Given the description of an element on the screen output the (x, y) to click on. 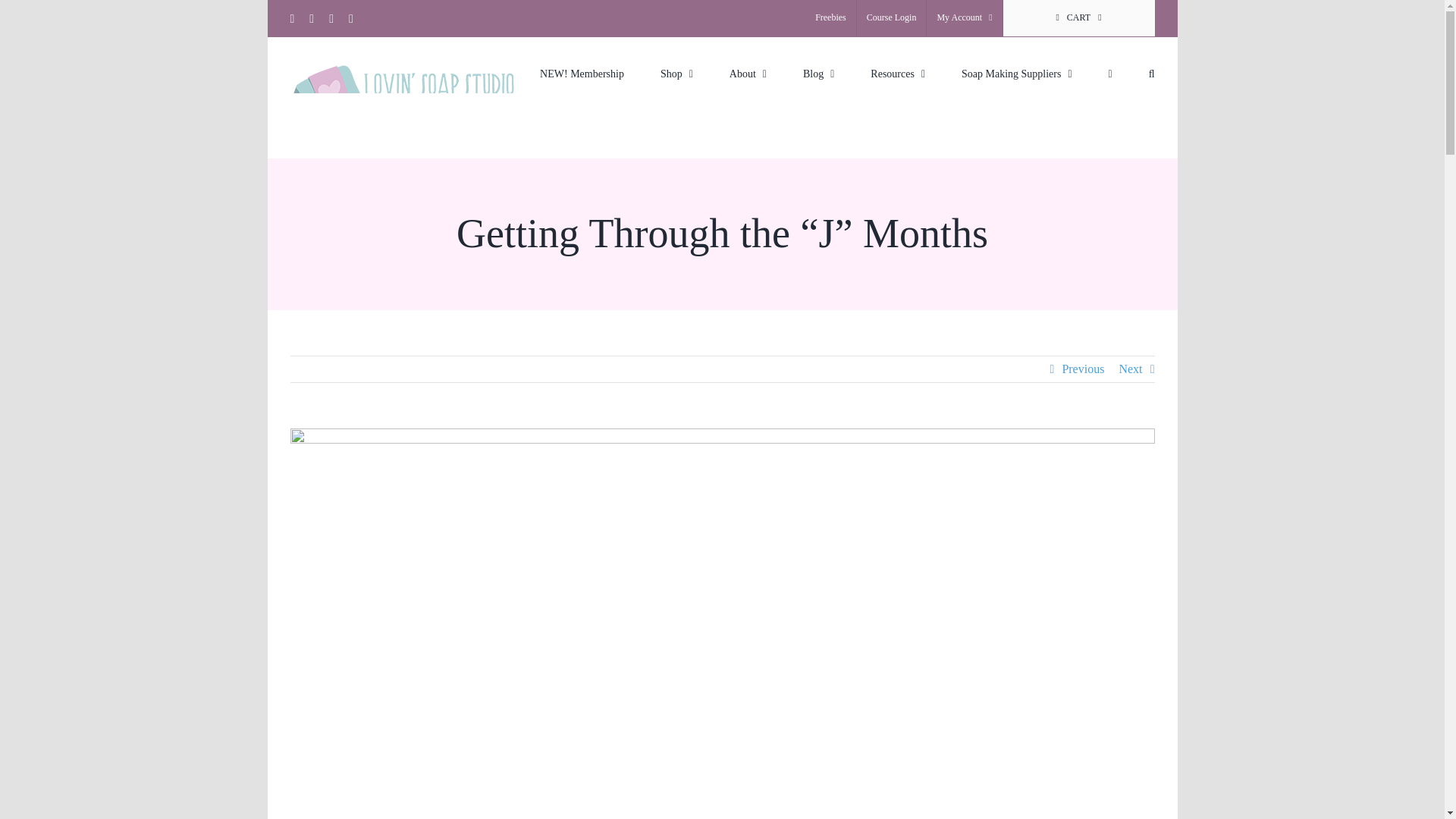
Log In (1034, 179)
My Account (963, 18)
Soap Making Suppliers (1015, 72)
NEW! Membership (582, 72)
Freebies (830, 18)
CART (1078, 18)
Course Login (891, 18)
